Given the description of an element on the screen output the (x, y) to click on. 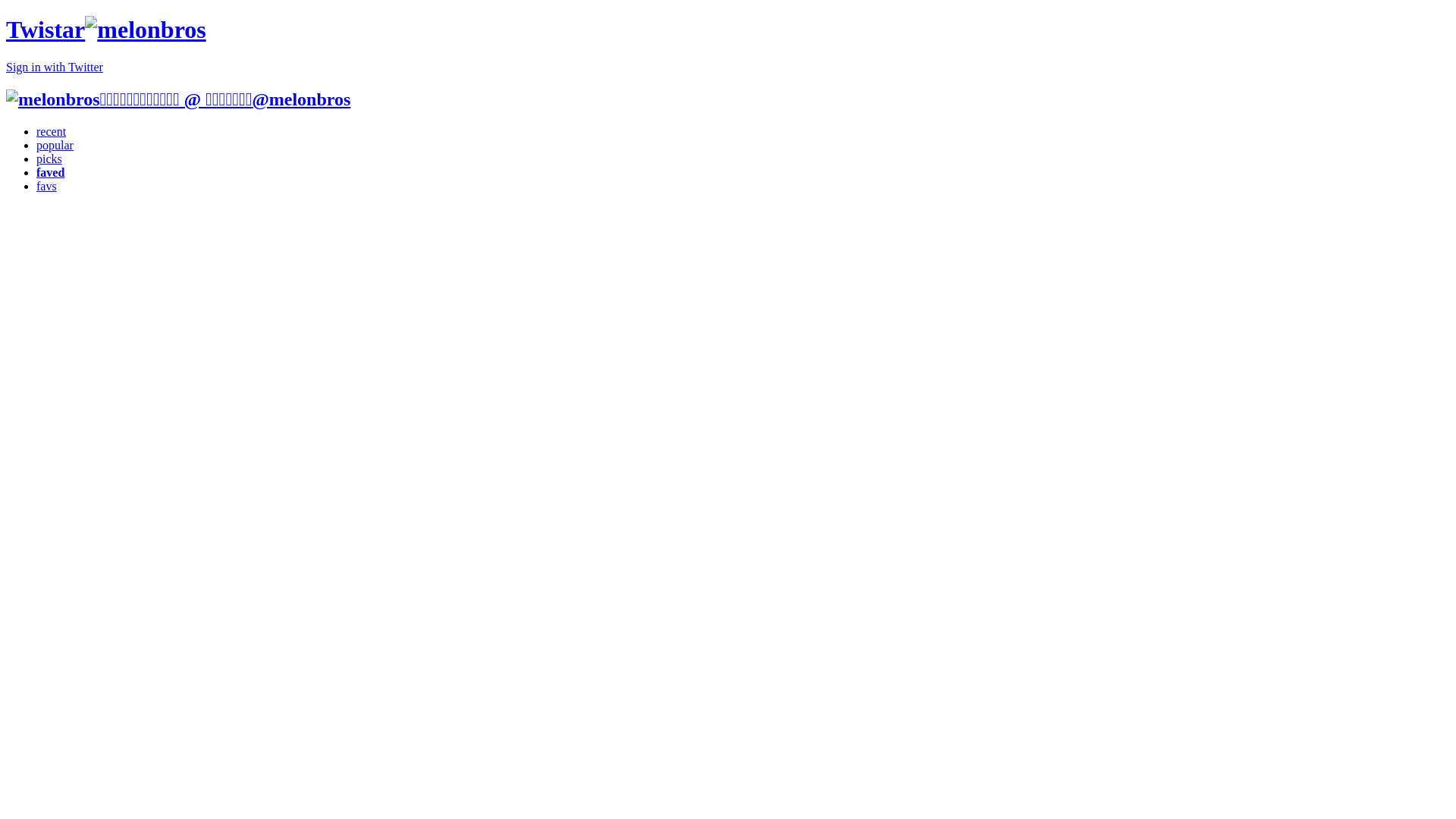
popular Element type: text (54, 144)
recent Element type: text (50, 131)
Sign in with Twitter Element type: text (54, 66)
picks Element type: text (49, 158)
Twistar Element type: text (106, 29)
faved Element type: text (50, 172)
favs Element type: text (46, 185)
